Given the description of an element on the screen output the (x, y) to click on. 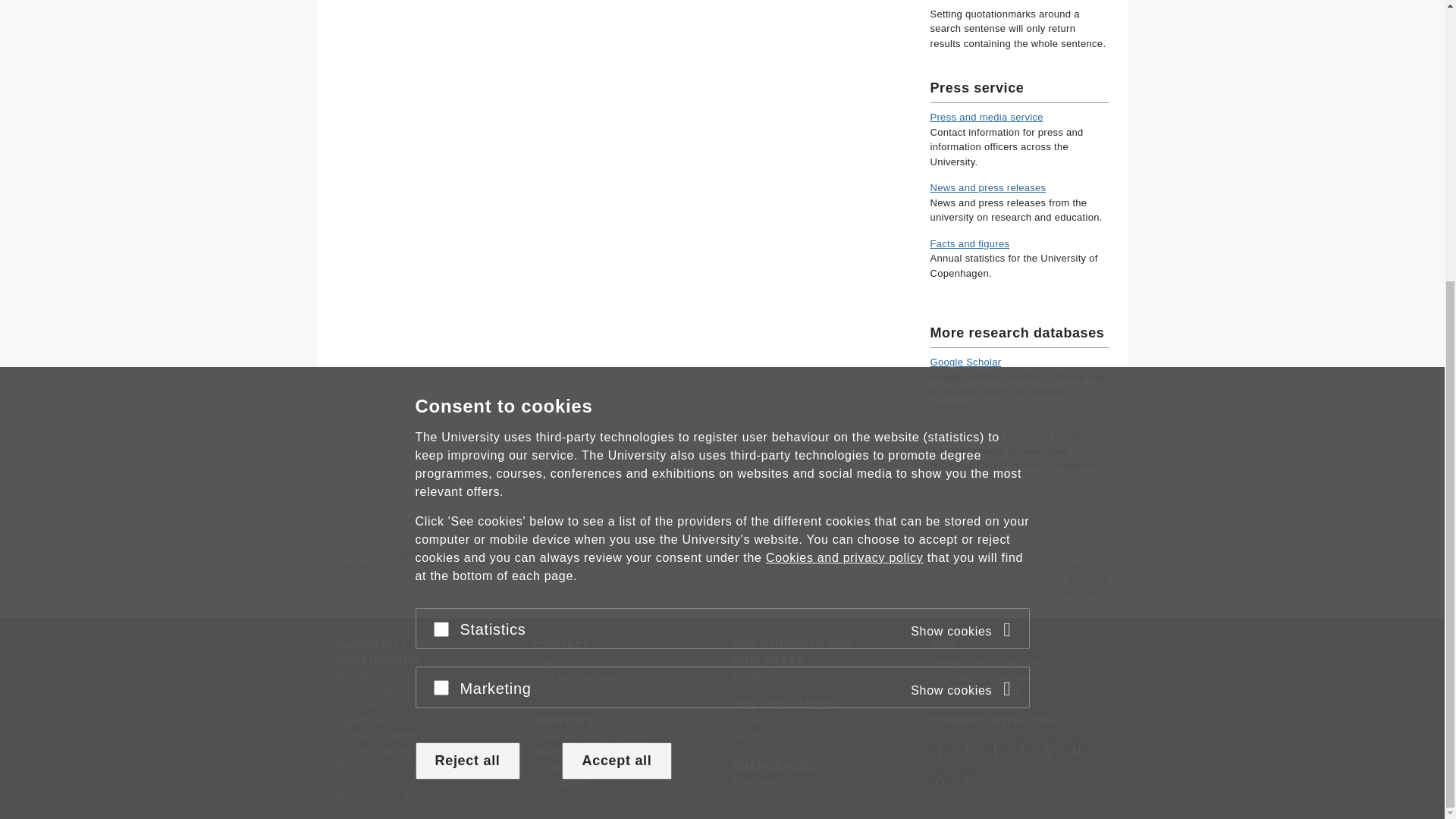
Facts and figures (969, 243)
News site (987, 187)
Phone number (1034, 590)
